Given the description of an element on the screen output the (x, y) to click on. 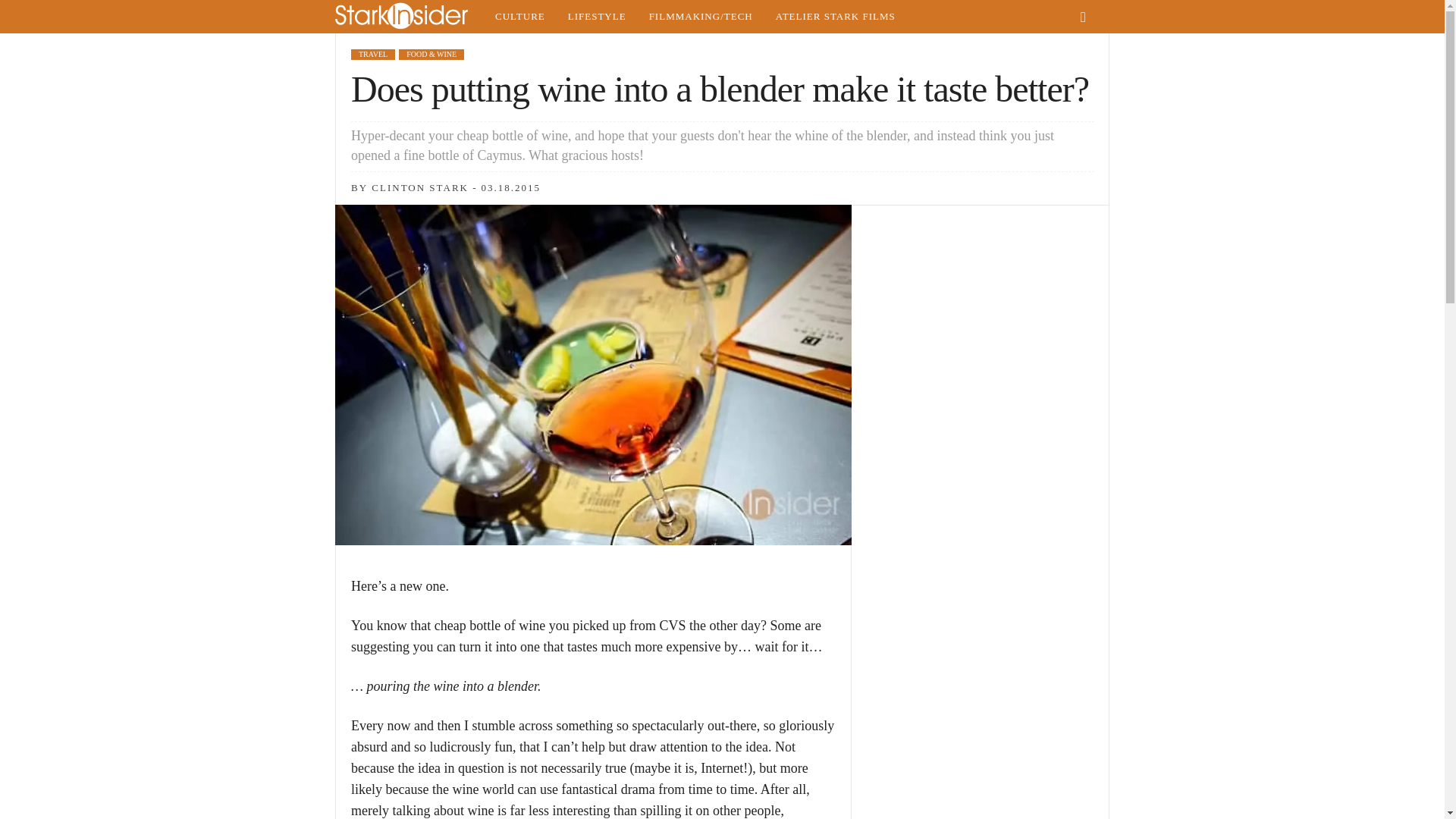
TRAVEL (372, 54)
CLINTON STARK (419, 187)
LIFESTYLE (596, 16)
CULTURE (519, 16)
ATELIER STARK FILMS (835, 16)
Indie film, music, arts in San Francisco and Silicon Valley (519, 16)
Tech, gadgets, camera news and reviews from Silicon Valley (700, 16)
Stark Insider (408, 16)
